Given the description of an element on the screen output the (x, y) to click on. 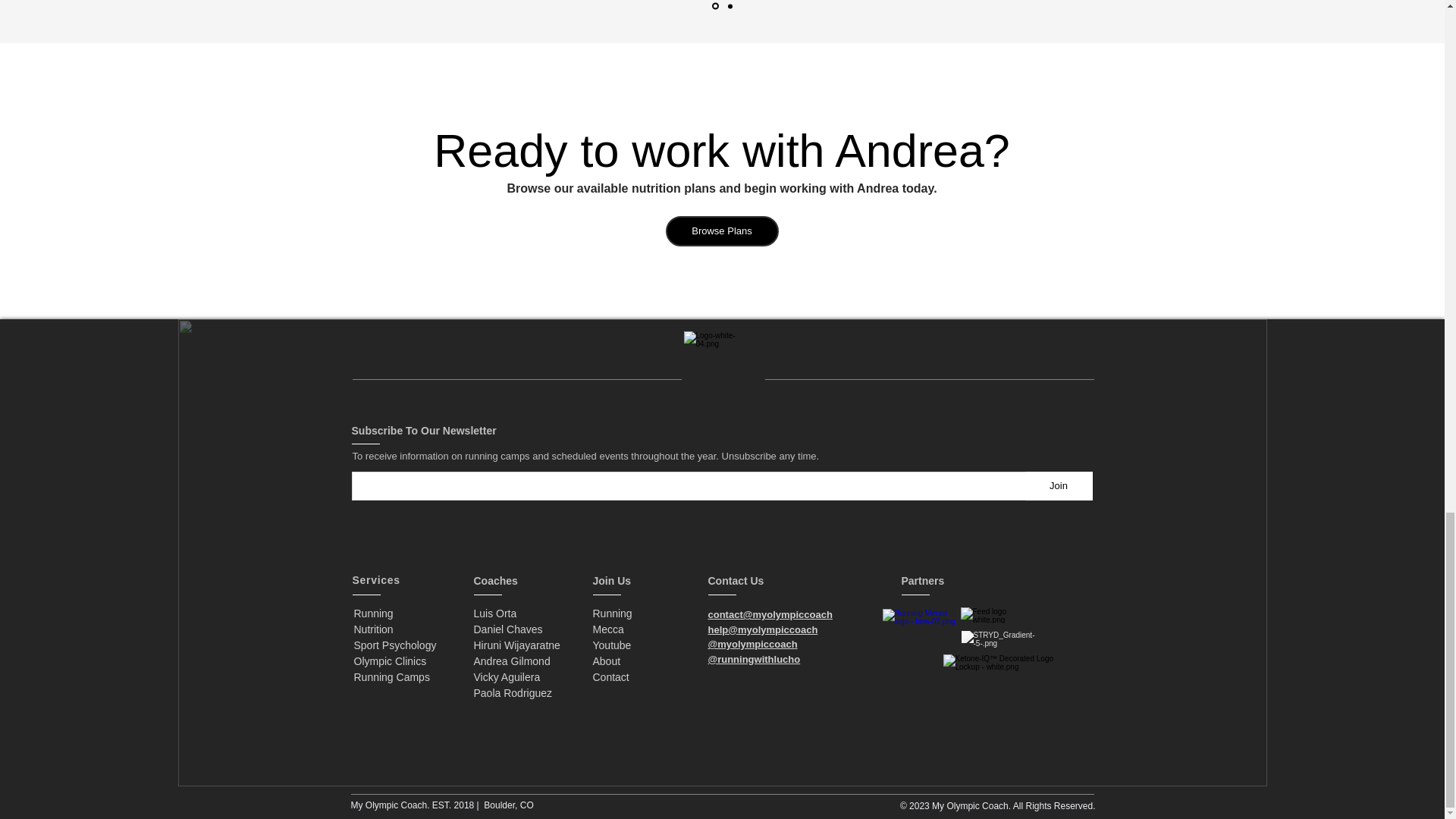
Running (373, 613)
Luis Orta (494, 613)
Andrea Gilmond (511, 661)
Join (516, 637)
Browse Plans (1059, 485)
Nutrition (721, 231)
Olympic Clinics (373, 629)
Running Camps (389, 661)
Sport Psychology (391, 676)
